Given the description of an element on the screen output the (x, y) to click on. 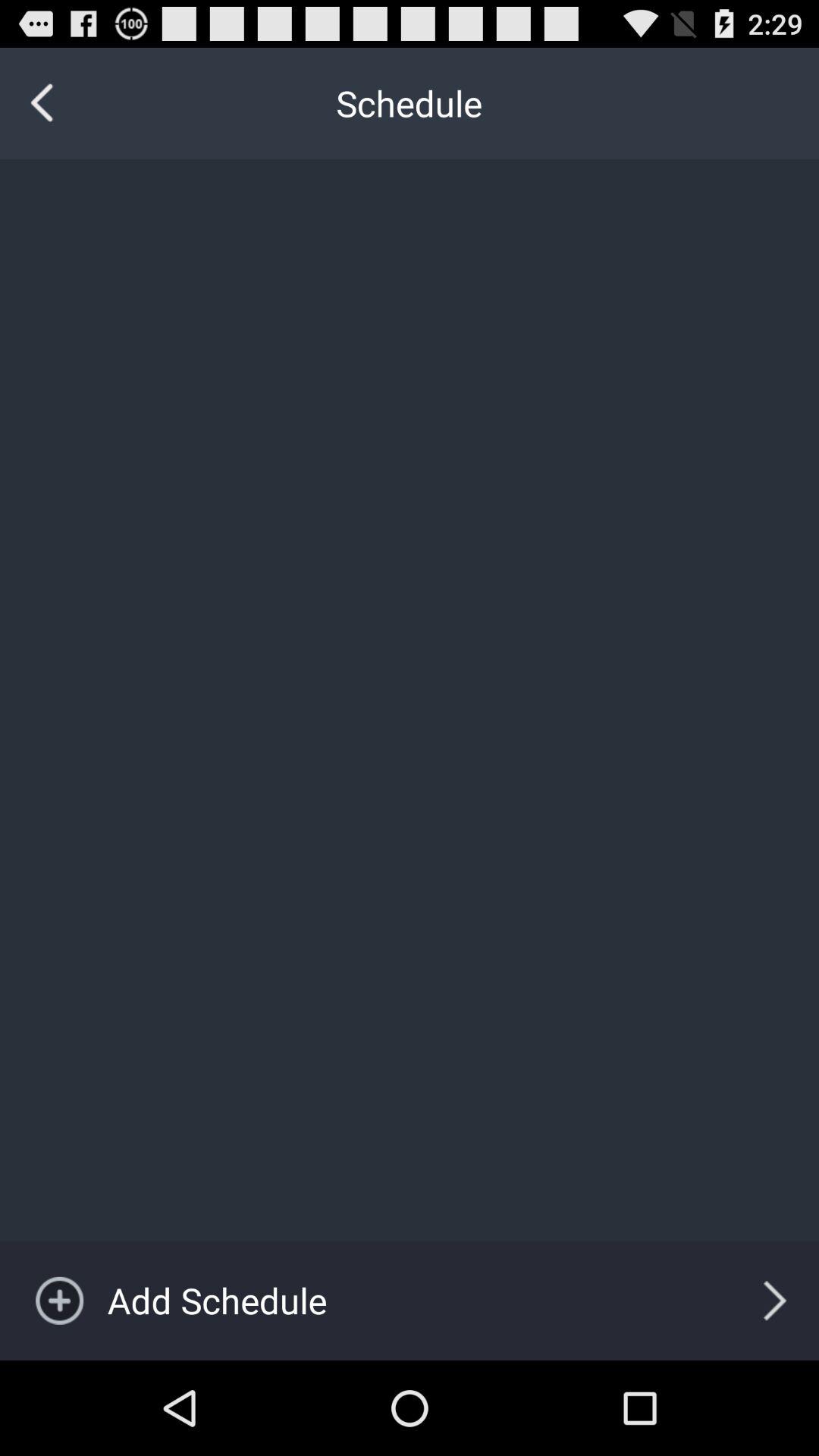
launch the icon to the left of the schedule icon (42, 103)
